Given the description of an element on the screen output the (x, y) to click on. 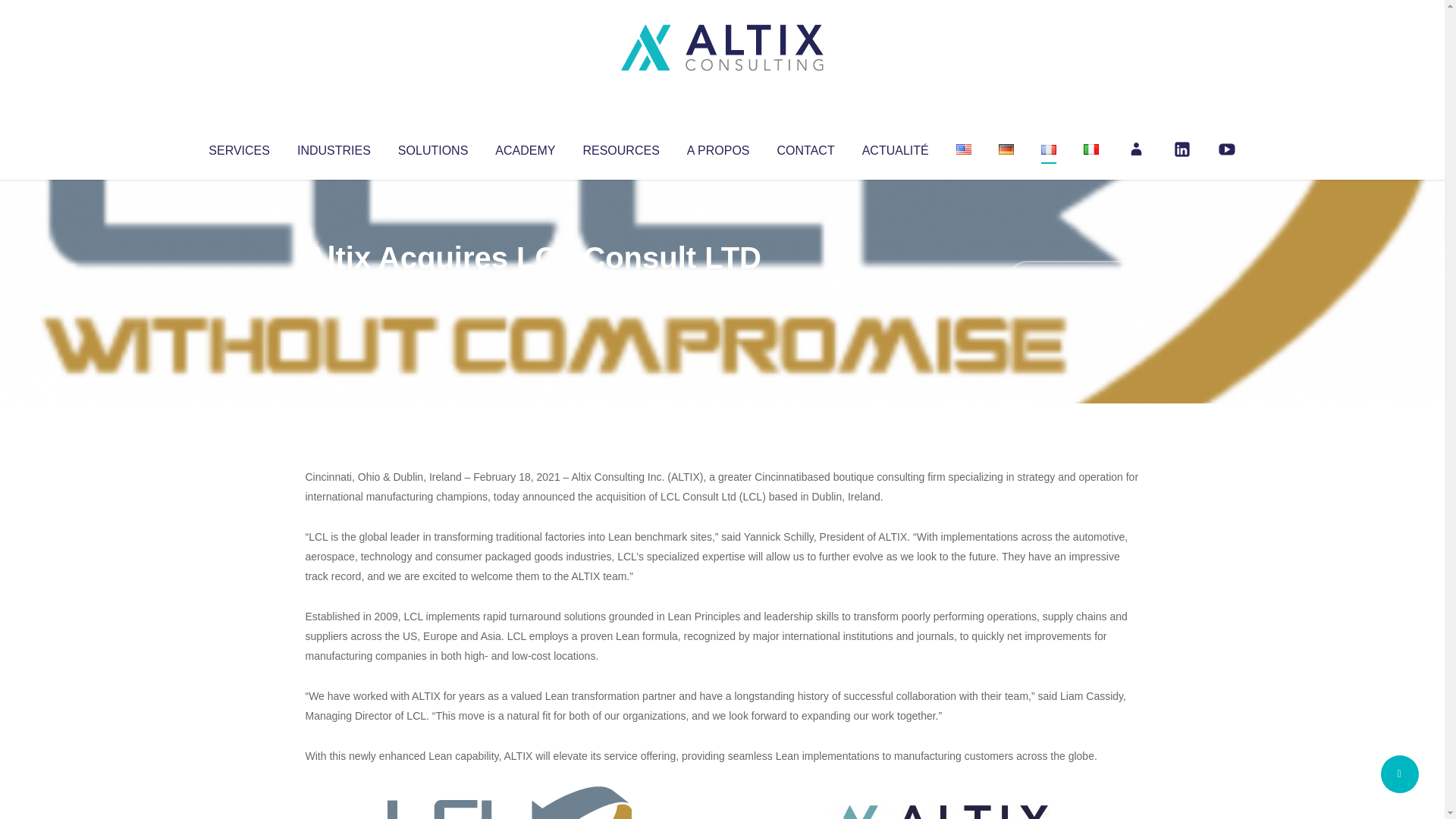
Uncategorized (530, 287)
Articles par Altix (333, 287)
A PROPOS (718, 146)
No Comments (1073, 278)
SERVICES (238, 146)
INDUSTRIES (334, 146)
ACADEMY (524, 146)
Altix (333, 287)
SOLUTIONS (432, 146)
RESOURCES (620, 146)
